Given the description of an element on the screen output the (x, y) to click on. 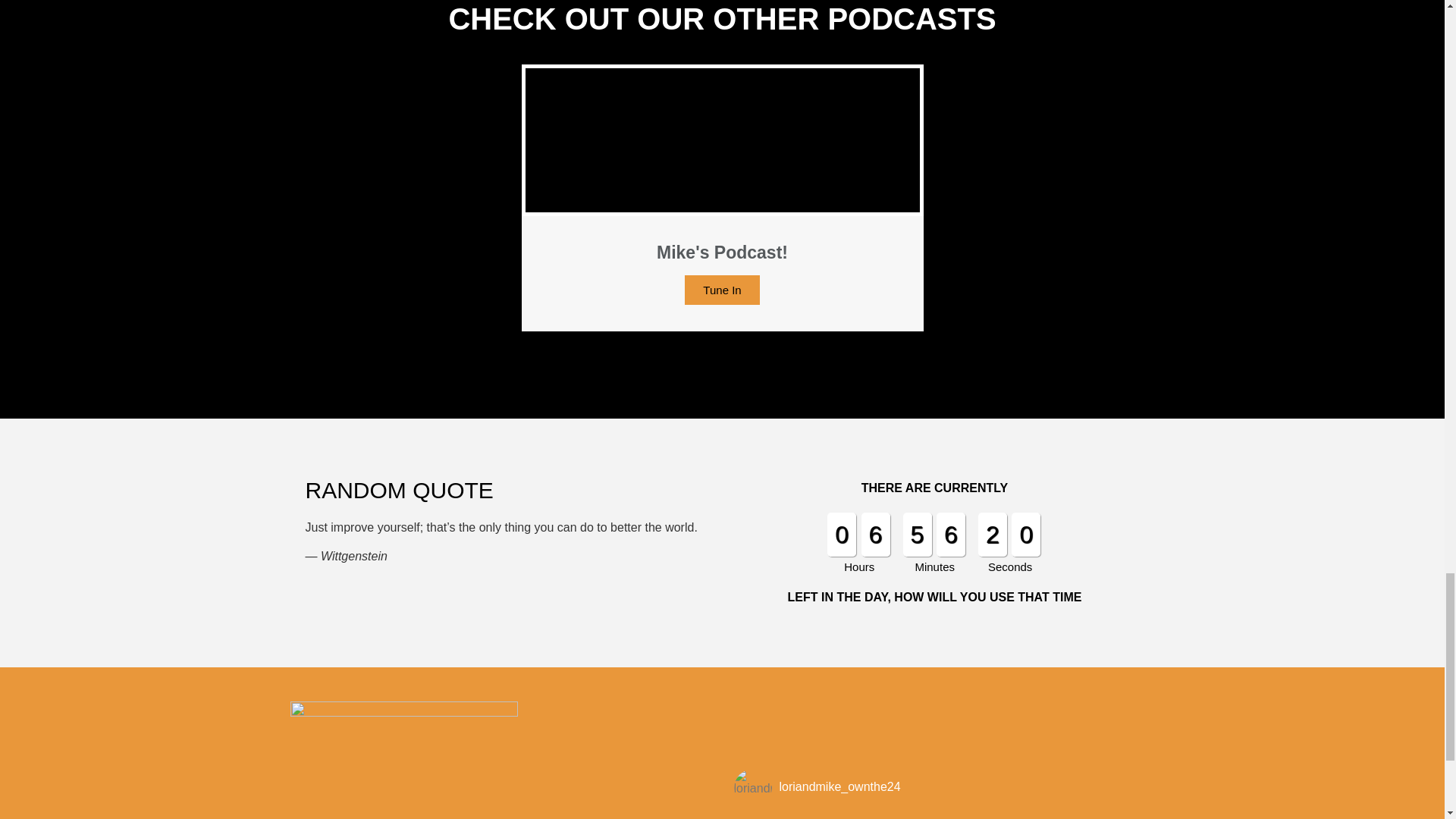
Tune In (721, 289)
